Given the description of an element on the screen output the (x, y) to click on. 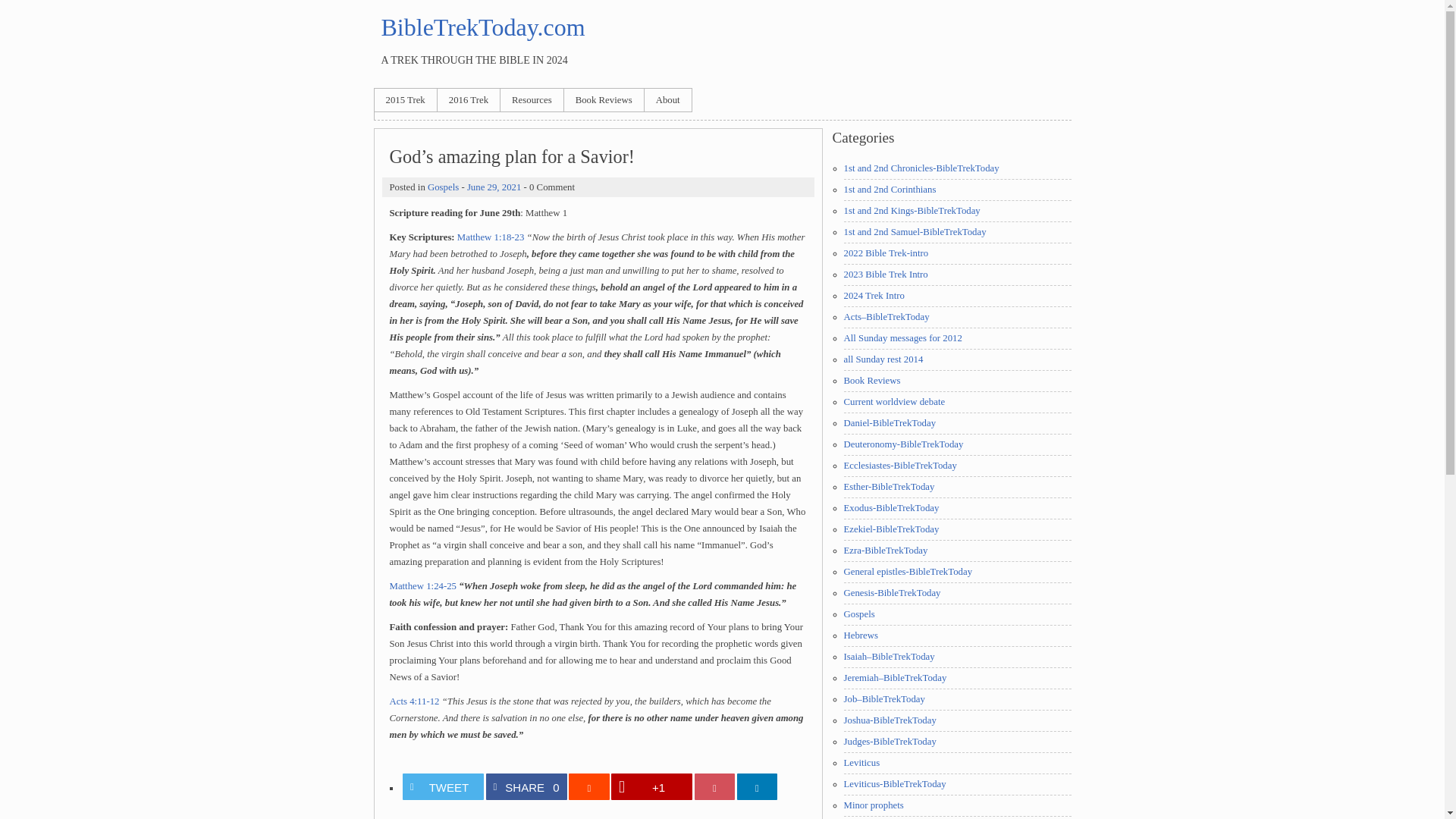
Tweet on Twitter (443, 786)
TWEET (443, 786)
1st and 2nd Corinthians (889, 189)
2023 Bible Trek Intro (885, 274)
Deuteronomy-BibleTrekToday (902, 443)
1st and 2nd Samuel-BibleTrekToday (914, 231)
2015 Trek (405, 99)
June 29, 2021 (494, 186)
Book Reviews (603, 99)
1st and 2nd Chronicles-BibleTrekToday (920, 167)
